Given the description of an element on the screen output the (x, y) to click on. 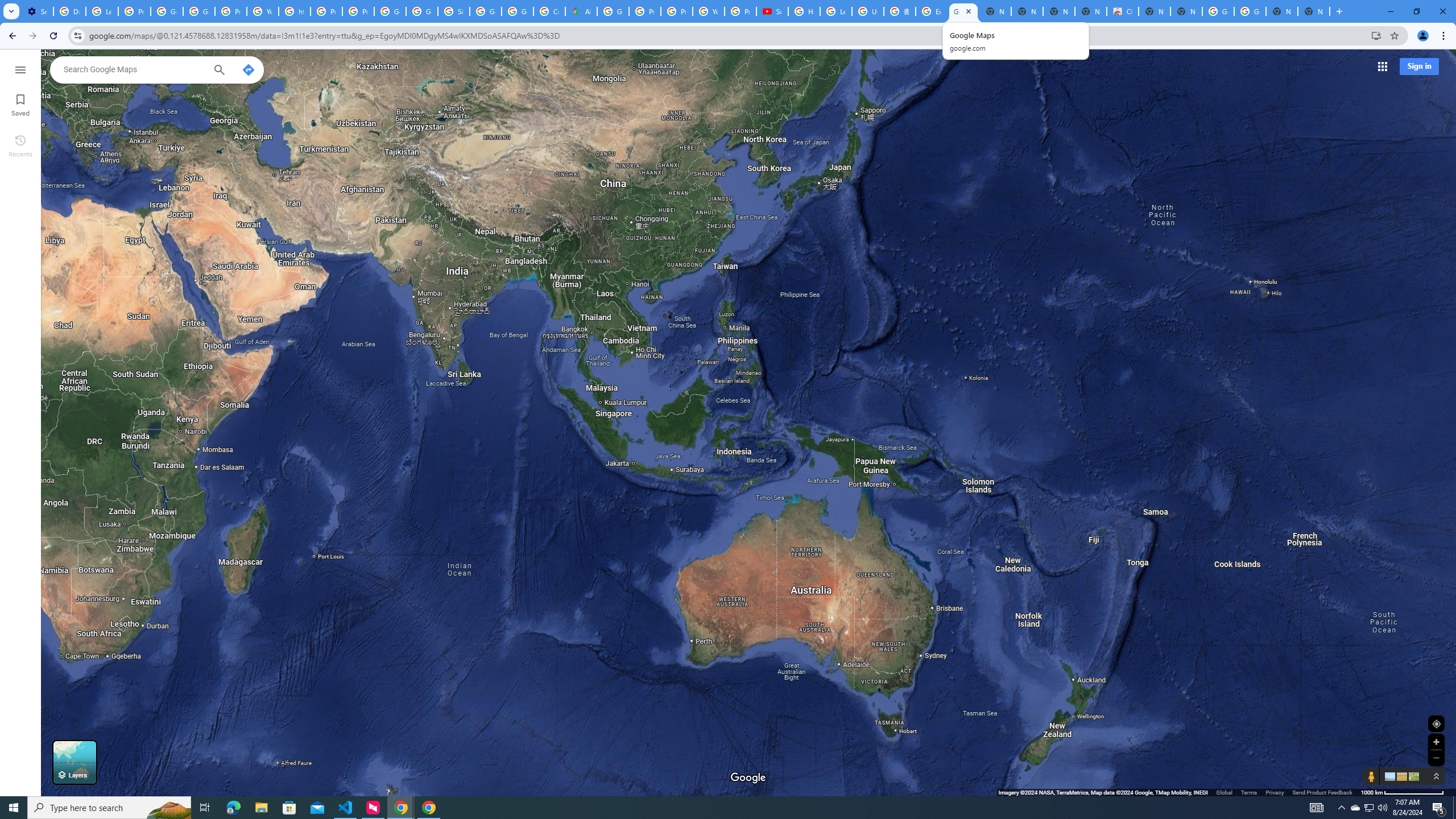
Privacy Help Center - Policies Help (644, 11)
Show imagery (1412, 776)
Search Google Maps (133, 69)
Menu (20, 68)
